Given the description of an element on the screen output the (x, y) to click on. 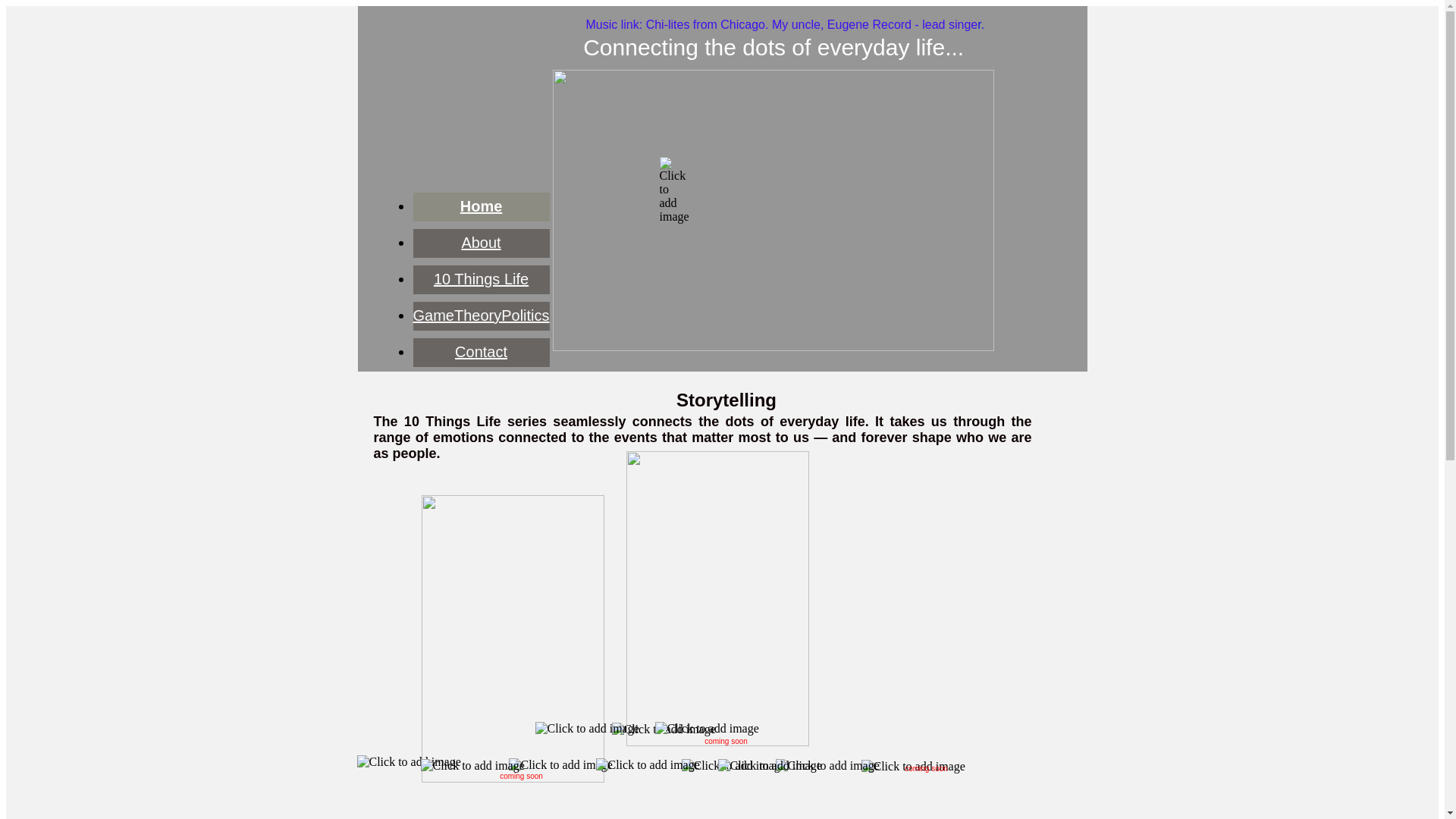
Contact Element type: text (481, 351)
About Element type: text (480, 242)
Home Element type: text (481, 205)
GameTheoryPolitics Element type: text (480, 315)
10 Things Life Element type: text (480, 278)
